Given the description of an element on the screen output the (x, y) to click on. 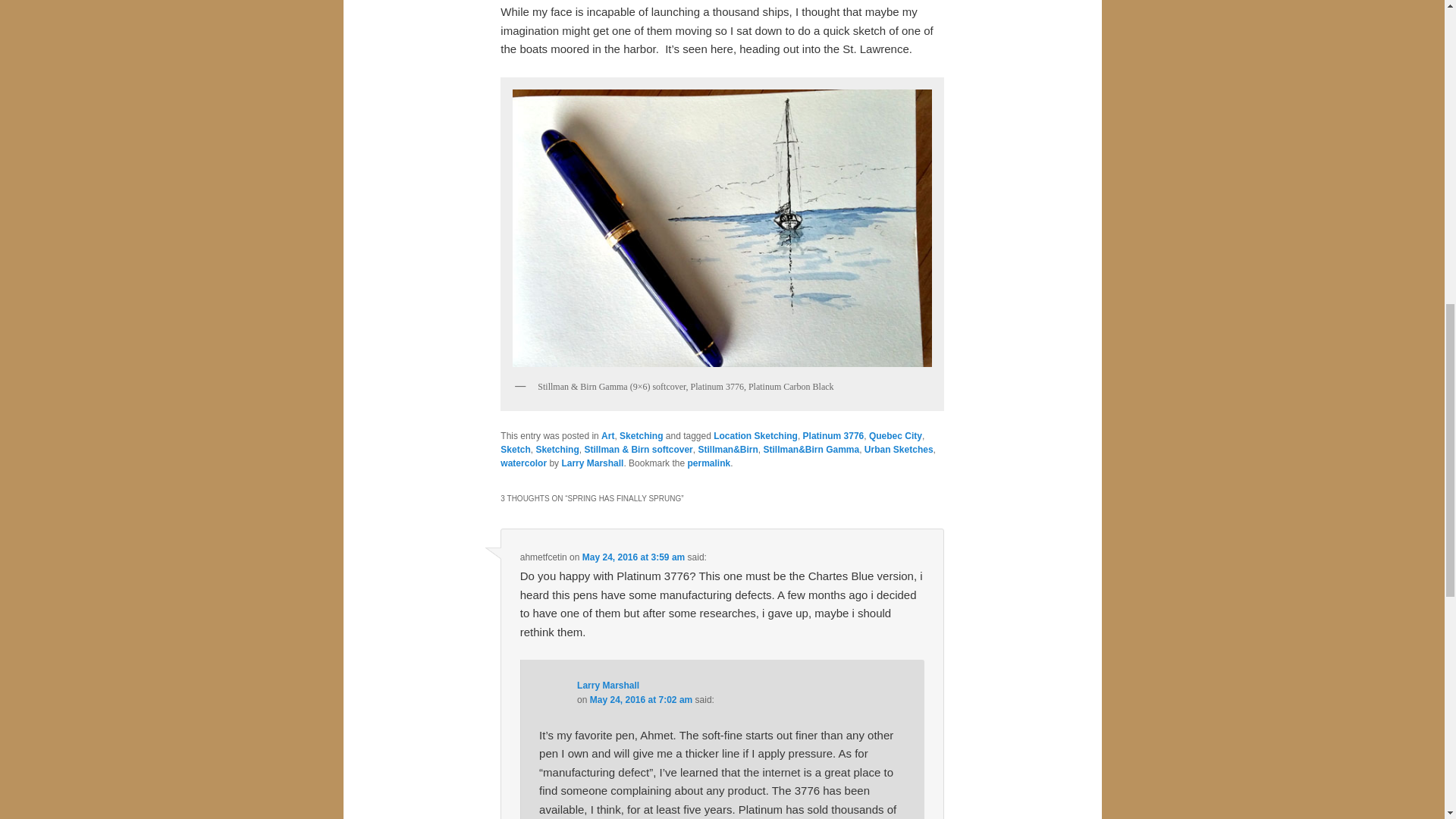
Sketching (641, 435)
May 24, 2016 at 7:02 am (641, 699)
Platinum 3776 (833, 435)
Larry Marshall (591, 462)
Urban Sketches (898, 449)
Sketching (556, 449)
Quebec City (895, 435)
permalink (708, 462)
watercolor (523, 462)
Sketch (514, 449)
